Given the description of an element on the screen output the (x, y) to click on. 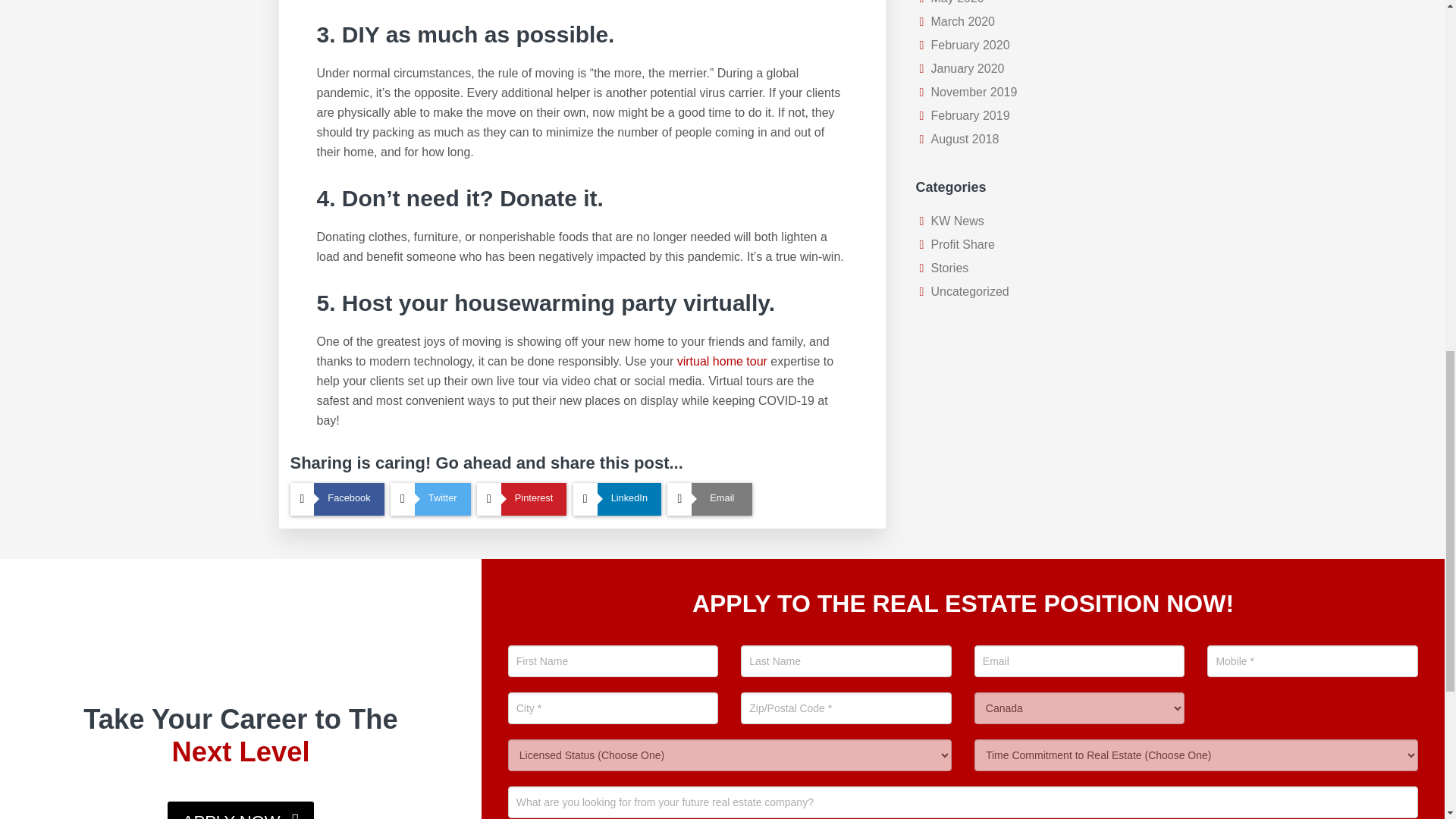
May 2020 (957, 2)
March 2020 (963, 21)
Twitter (430, 499)
Email (709, 499)
LinkedIn (617, 499)
Pinterest (521, 499)
Facebook (336, 499)
virtual home tour (722, 360)
